Given the description of an element on the screen output the (x, y) to click on. 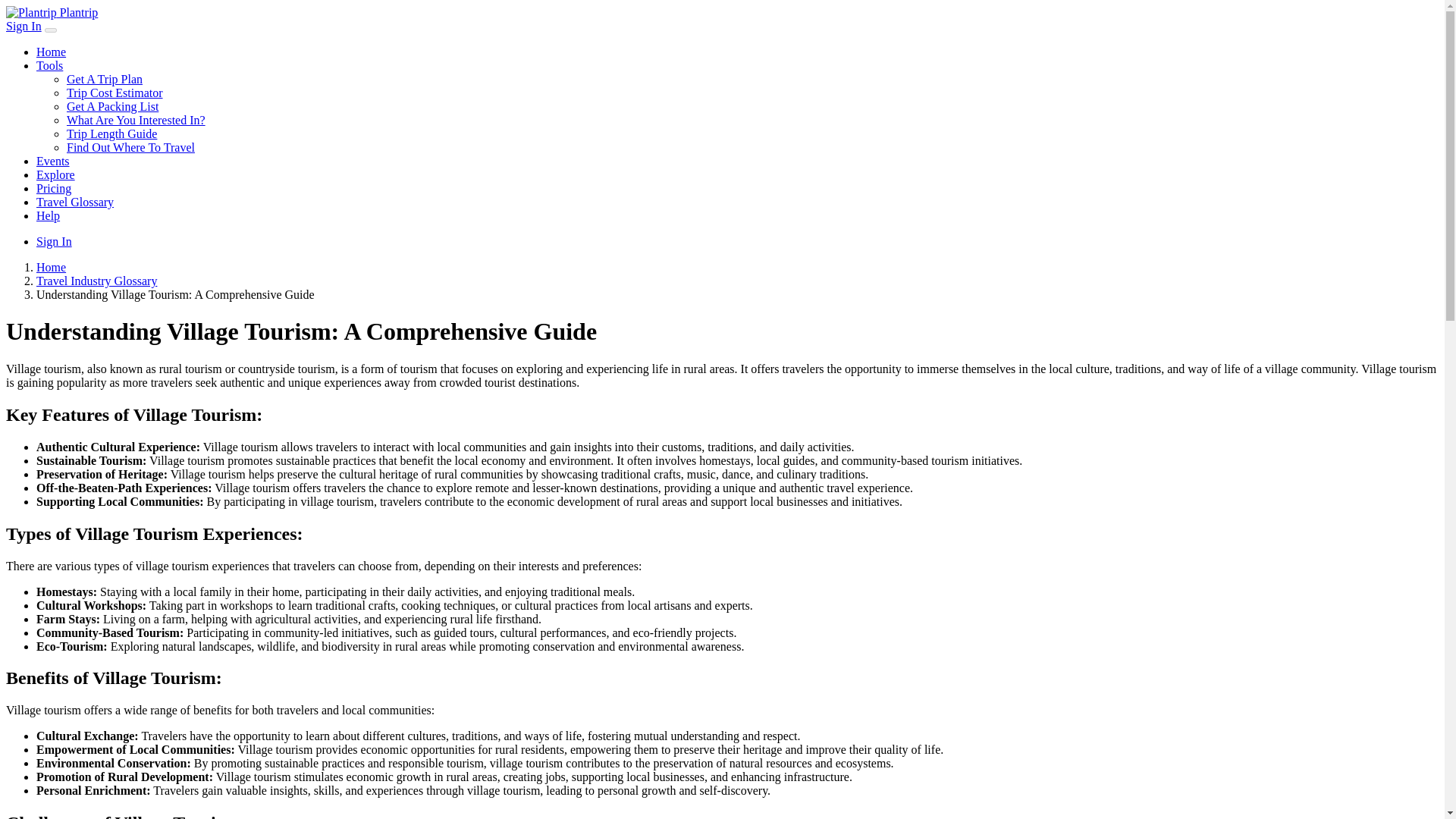
Events (52, 160)
Get A Packing List (112, 106)
Trip Cost Estimator (114, 92)
Help (47, 215)
Home (50, 267)
Home (50, 51)
Explore (55, 174)
Travel Glossary (74, 201)
Sign In (53, 241)
Plantrip (51, 11)
